Given the description of an element on the screen output the (x, y) to click on. 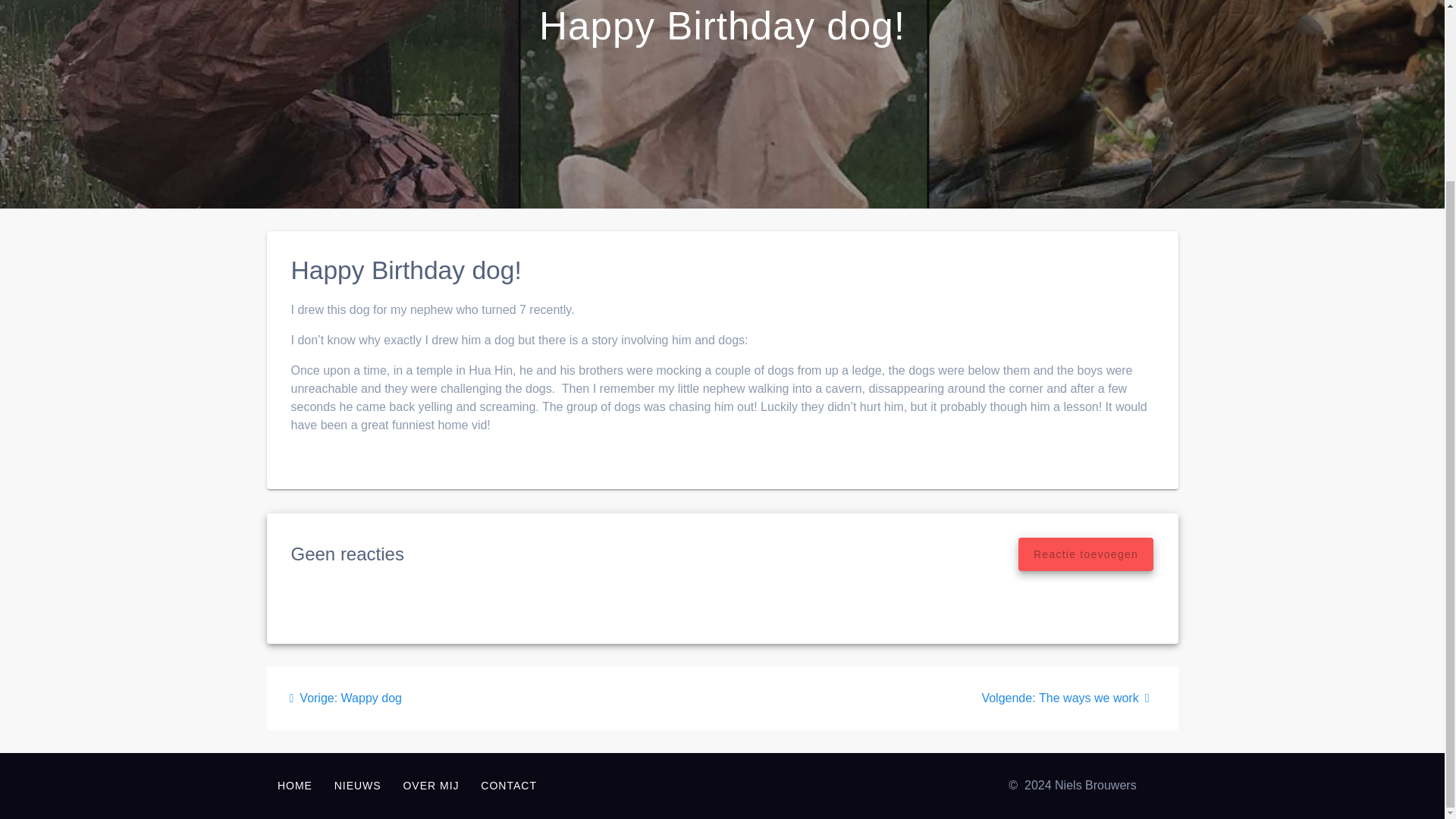
OVER MIJ (430, 784)
NIEUWS (357, 784)
Reactie toevoegen (1067, 697)
CONTACT (1085, 553)
HOME (508, 784)
